Given the description of an element on the screen output the (x, y) to click on. 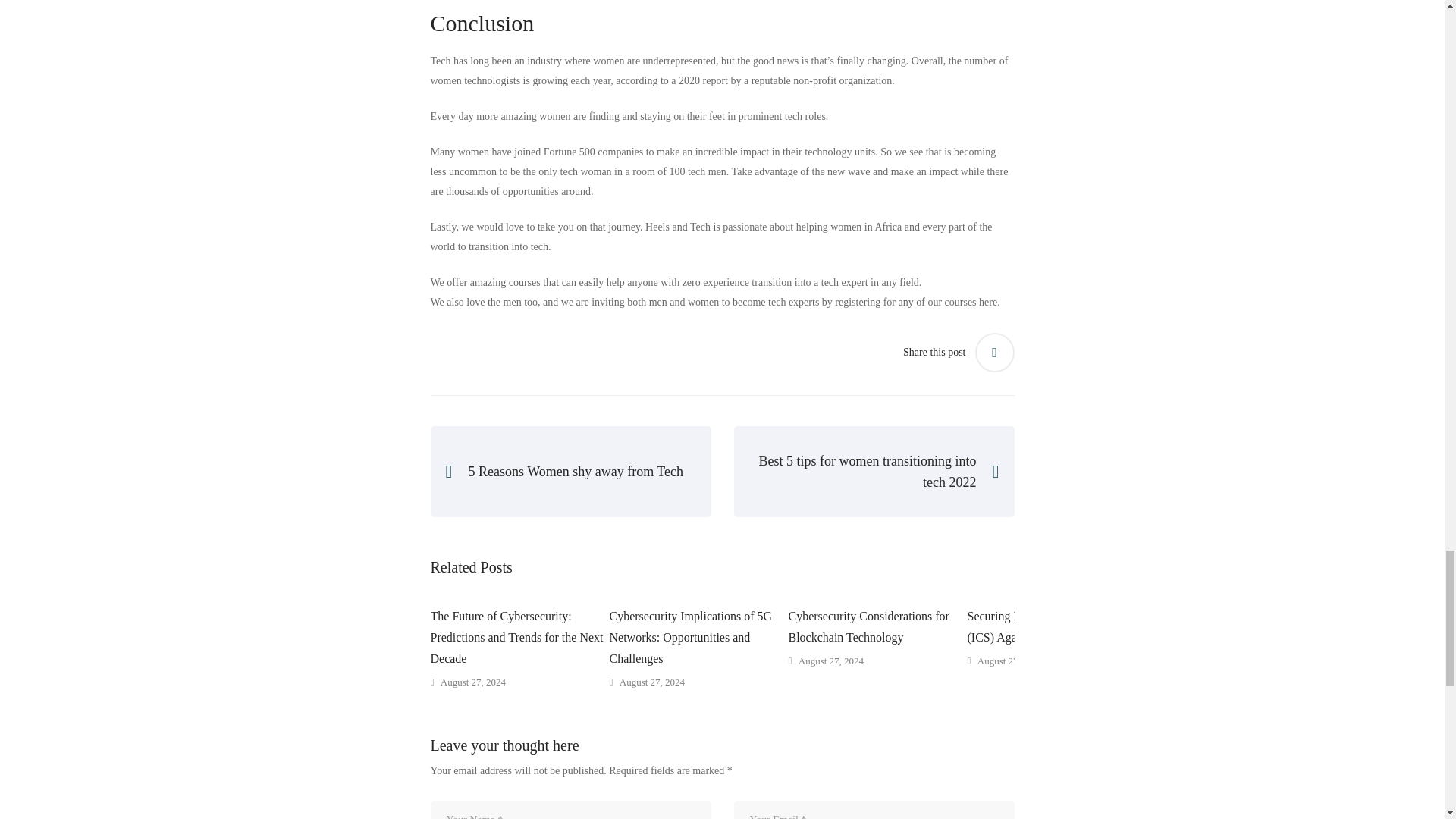
Best 5 tips for women transitioning into tech 2022 (873, 470)
5 Reasons Women shy away from Tech (570, 470)
Cybersecurity Considerations for Blockchain Technology (878, 627)
here (987, 301)
